Given the description of an element on the screen output the (x, y) to click on. 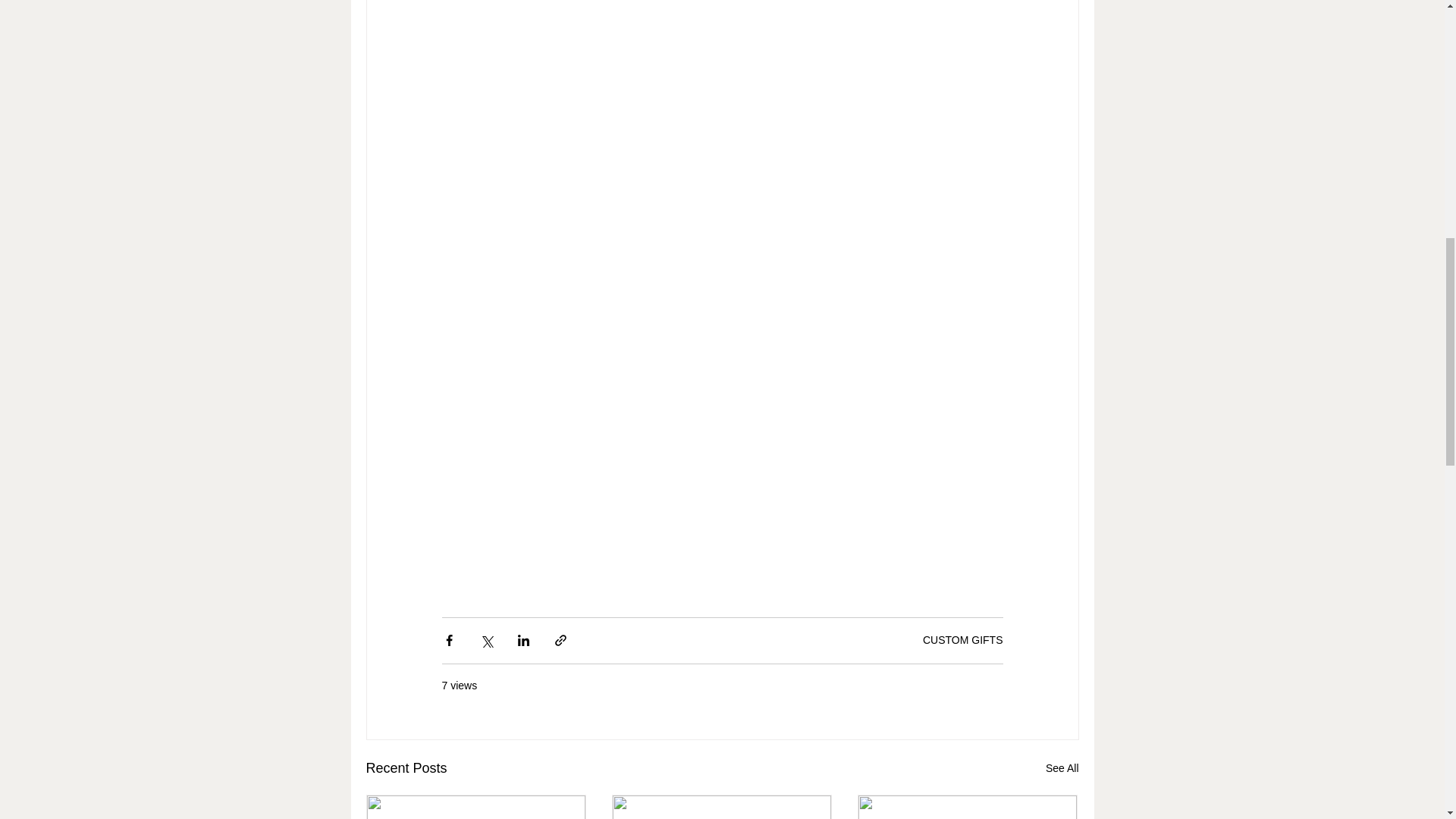
See All (1061, 768)
CUSTOM GIFTS (963, 639)
